Given the description of an element on the screen output the (x, y) to click on. 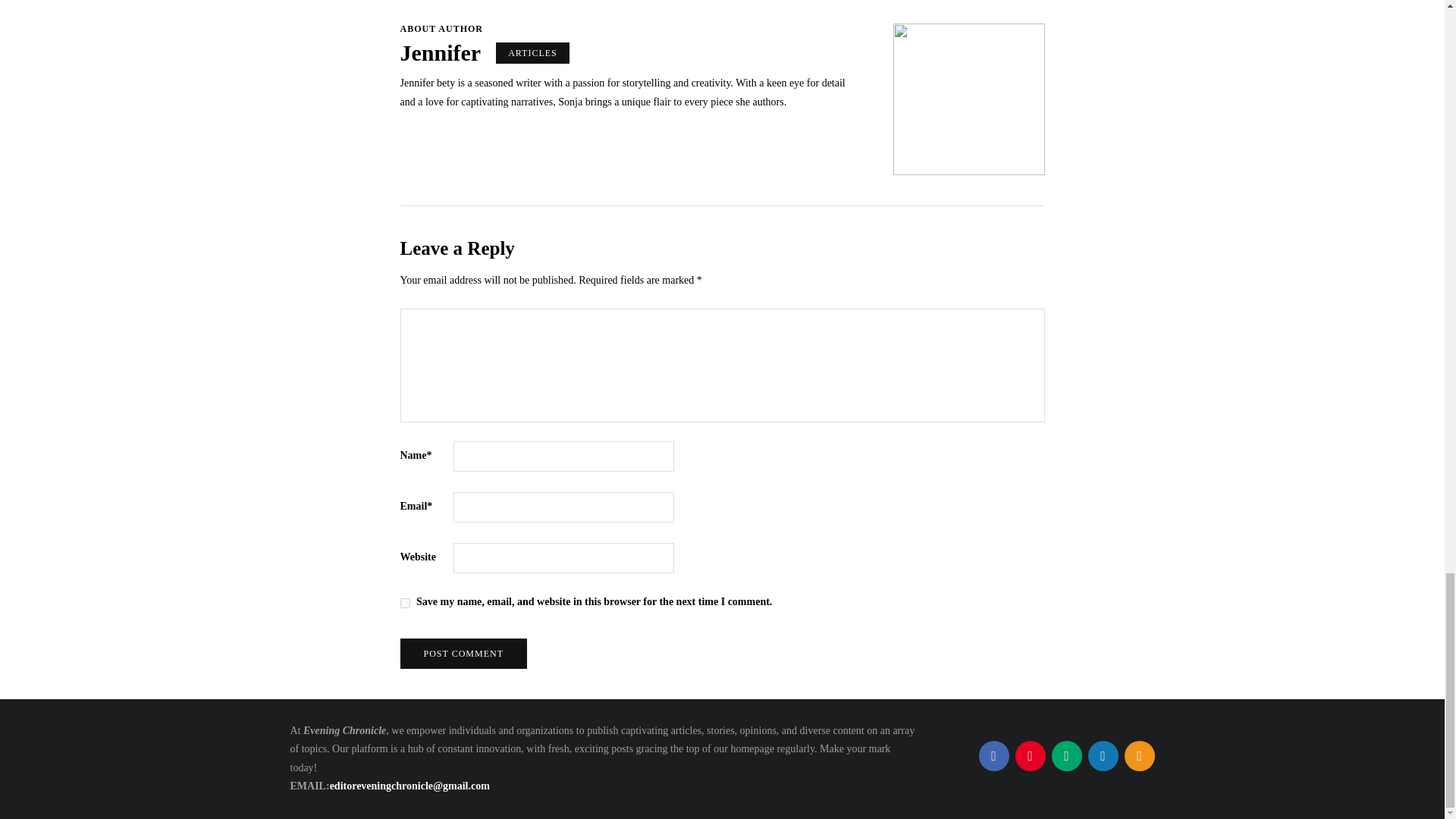
Jennifer (440, 51)
Posts by Jennifer (440, 51)
Post comment (463, 653)
ARTICLES (532, 52)
yes (405, 603)
